Given the description of an element on the screen output the (x, y) to click on. 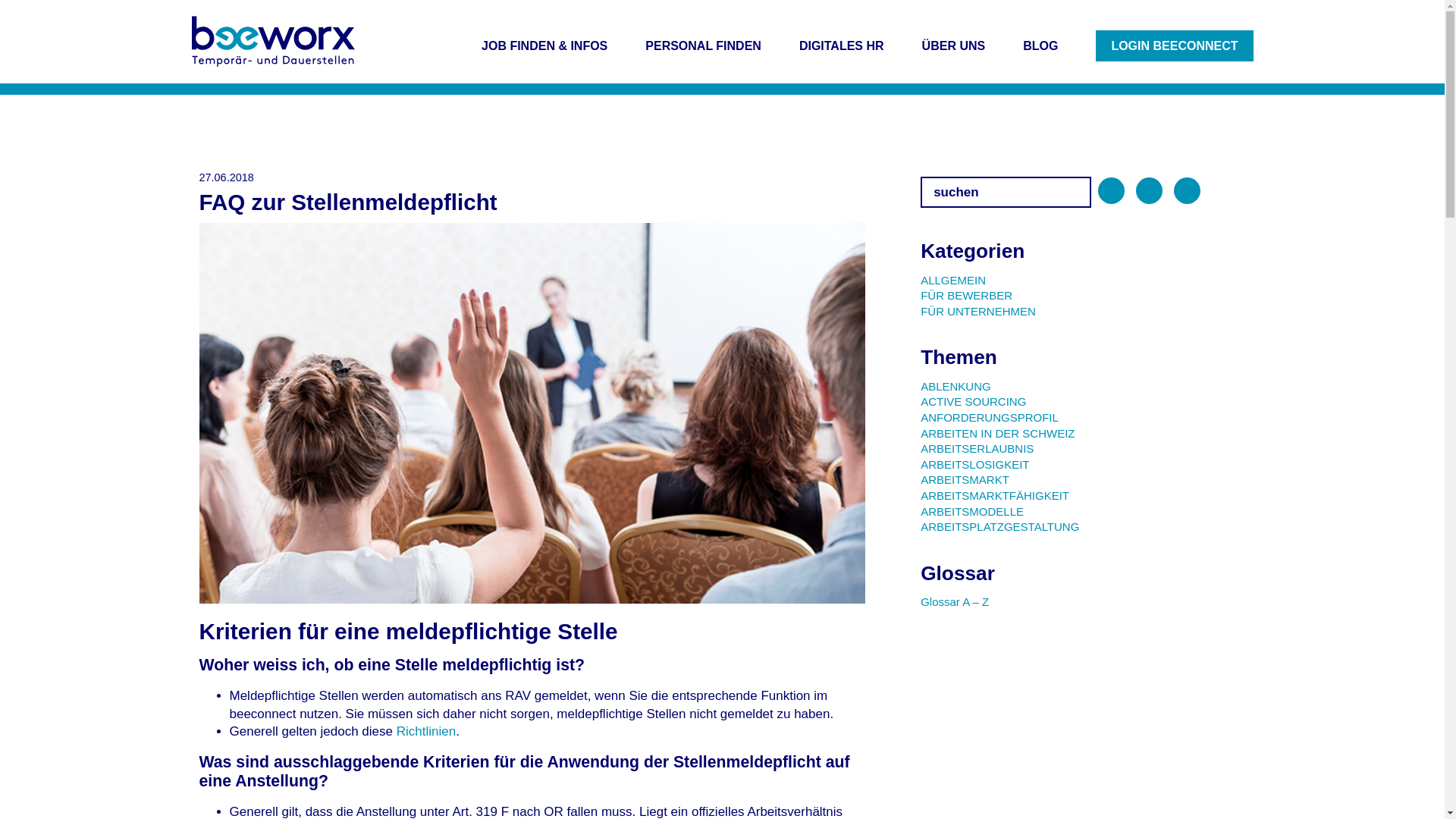
BLOG Element type: text (1039, 45)
JOB FINDEN & INFOS Element type: text (544, 45)
ARBEITSPLATZGESTALTUNG Element type: text (999, 526)
ALLGEMEIN Element type: text (952, 279)
LOGIN BEECONNECT Element type: text (1173, 45)
ARBEITEN IN DER SCHWEIZ Element type: text (997, 432)
ABLENKUNG Element type: text (955, 385)
ANFORDERUNGSPROFIL Element type: text (989, 417)
DIGITALES HR Element type: text (841, 45)
ARBEITSERLAUBNIS Element type: text (976, 448)
PERSONAL FINDEN Element type: text (703, 45)
ARBEITSMARKT Element type: text (964, 479)
ARBEITSLOSIGKEIT Element type: text (974, 464)
ACTIVE SOURCING Element type: text (973, 401)
ARBEITSMODELLE Element type: text (971, 511)
Richtlinien Element type: text (425, 731)
